Given the description of an element on the screen output the (x, y) to click on. 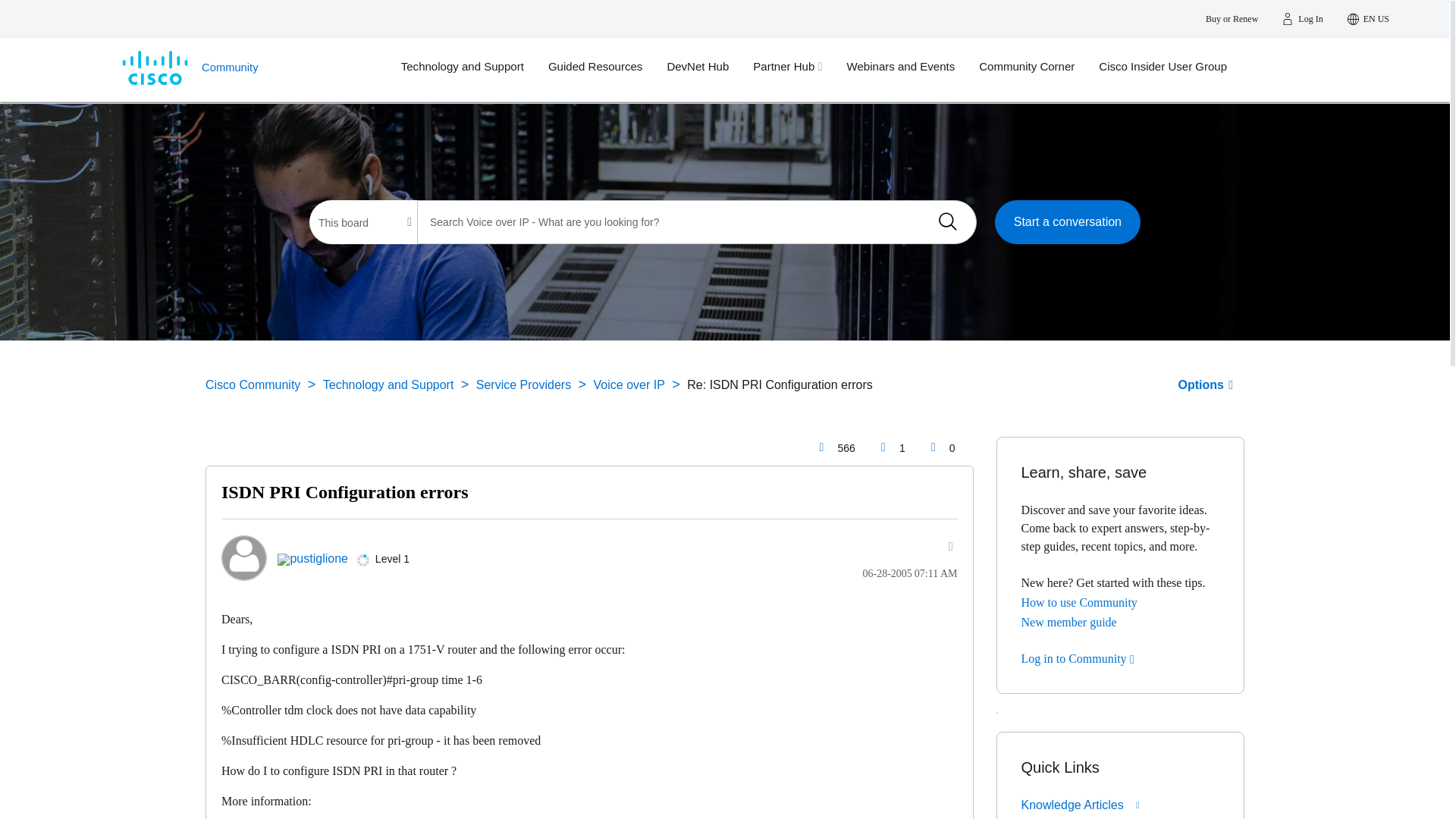
Level 1 (362, 560)
Show option menu (1205, 384)
Search (947, 221)
Show option menu (942, 546)
Tip: Phrases may provide better results (696, 221)
pustiglione (243, 557)
Guided Resources (607, 66)
Search Granularity (364, 222)
Community (246, 69)
Search (947, 221)
